Given the description of an element on the screen output the (x, y) to click on. 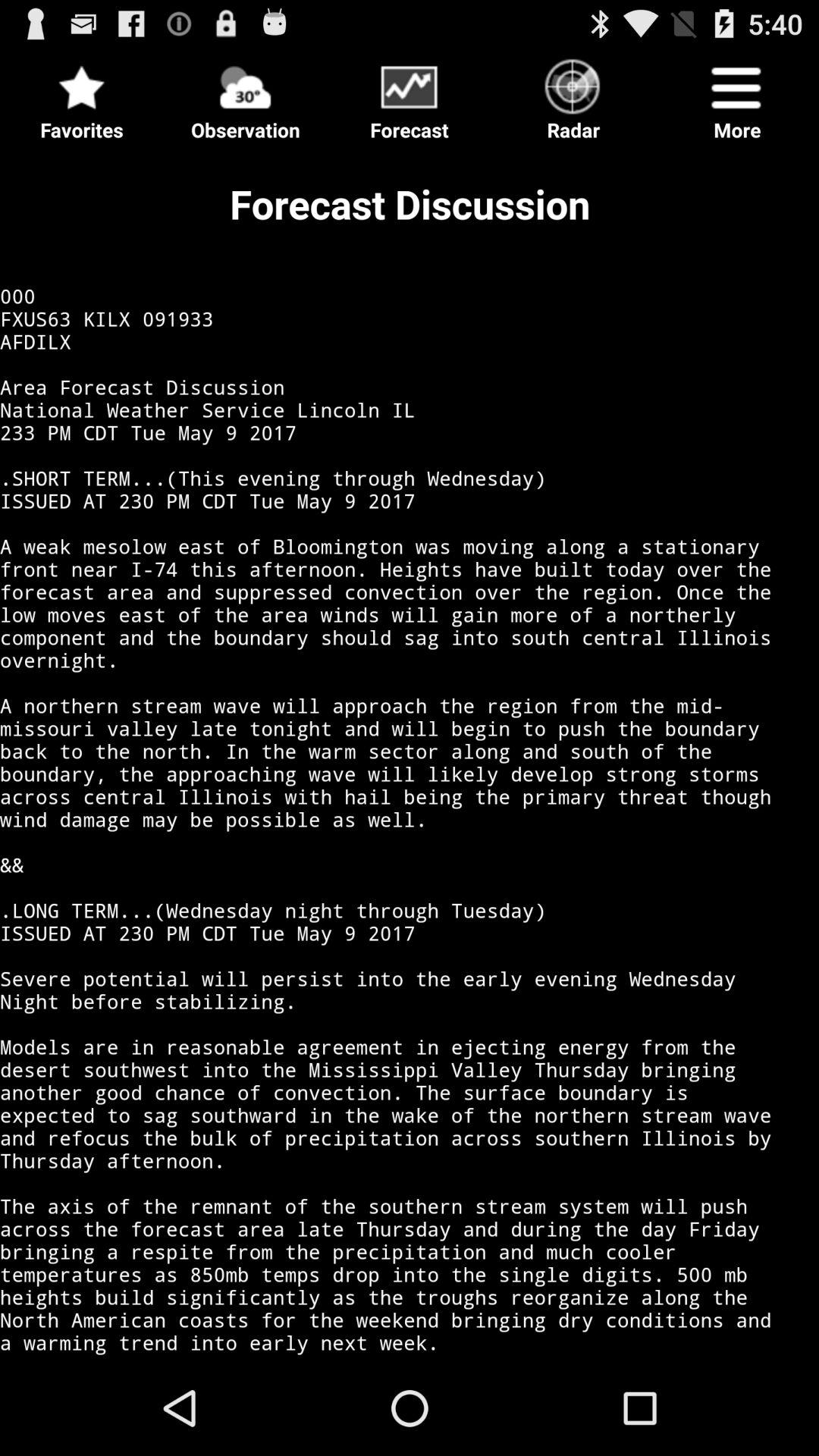
click button to the left of observation (81, 95)
